Given the description of an element on the screen output the (x, y) to click on. 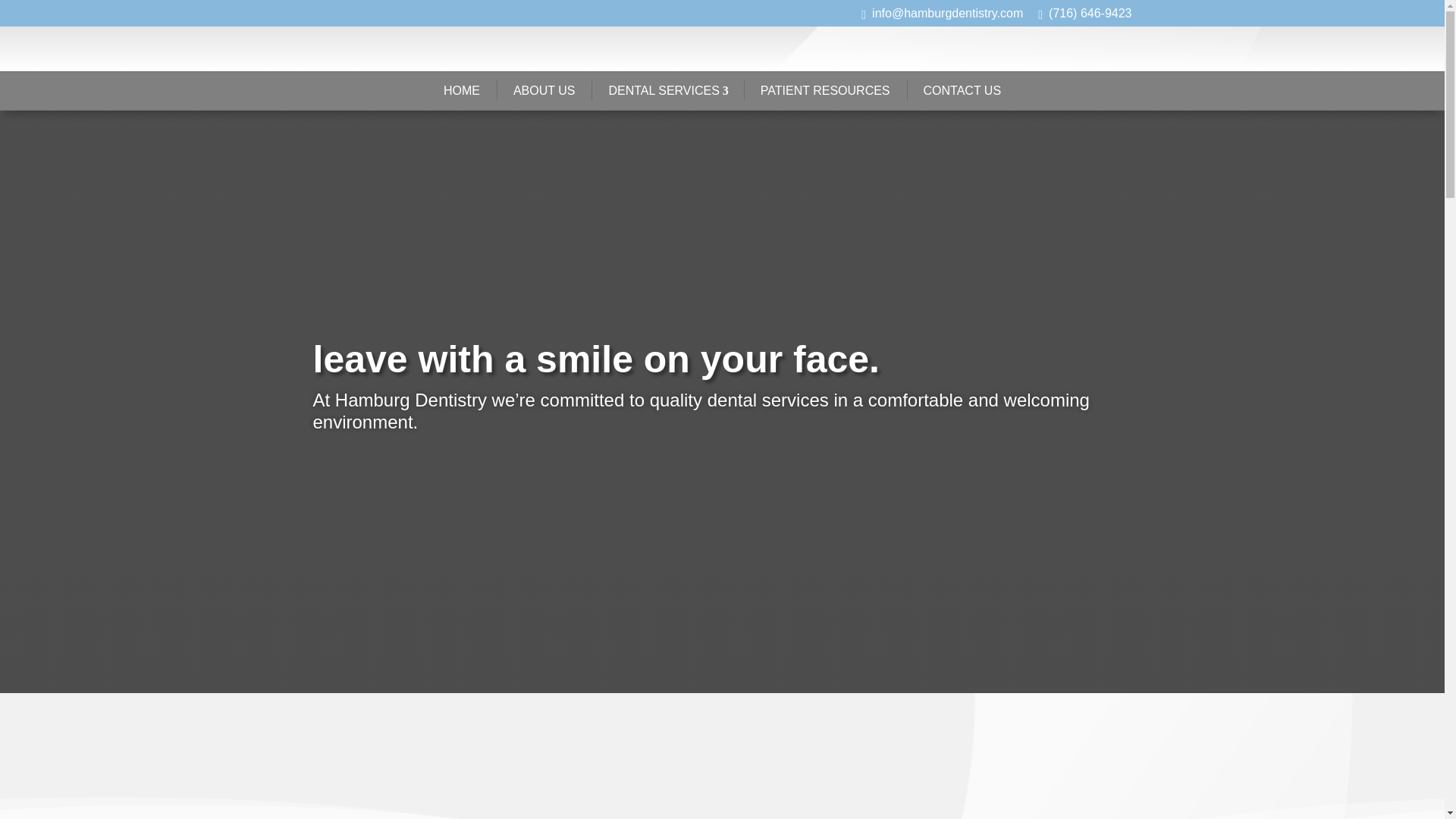
ABOUT US (544, 90)
CONTACT US (962, 90)
PATIENT RESOURCES (825, 90)
DENTAL SERVICES (666, 90)
HOME (461, 90)
